Given the description of an element on the screen output the (x, y) to click on. 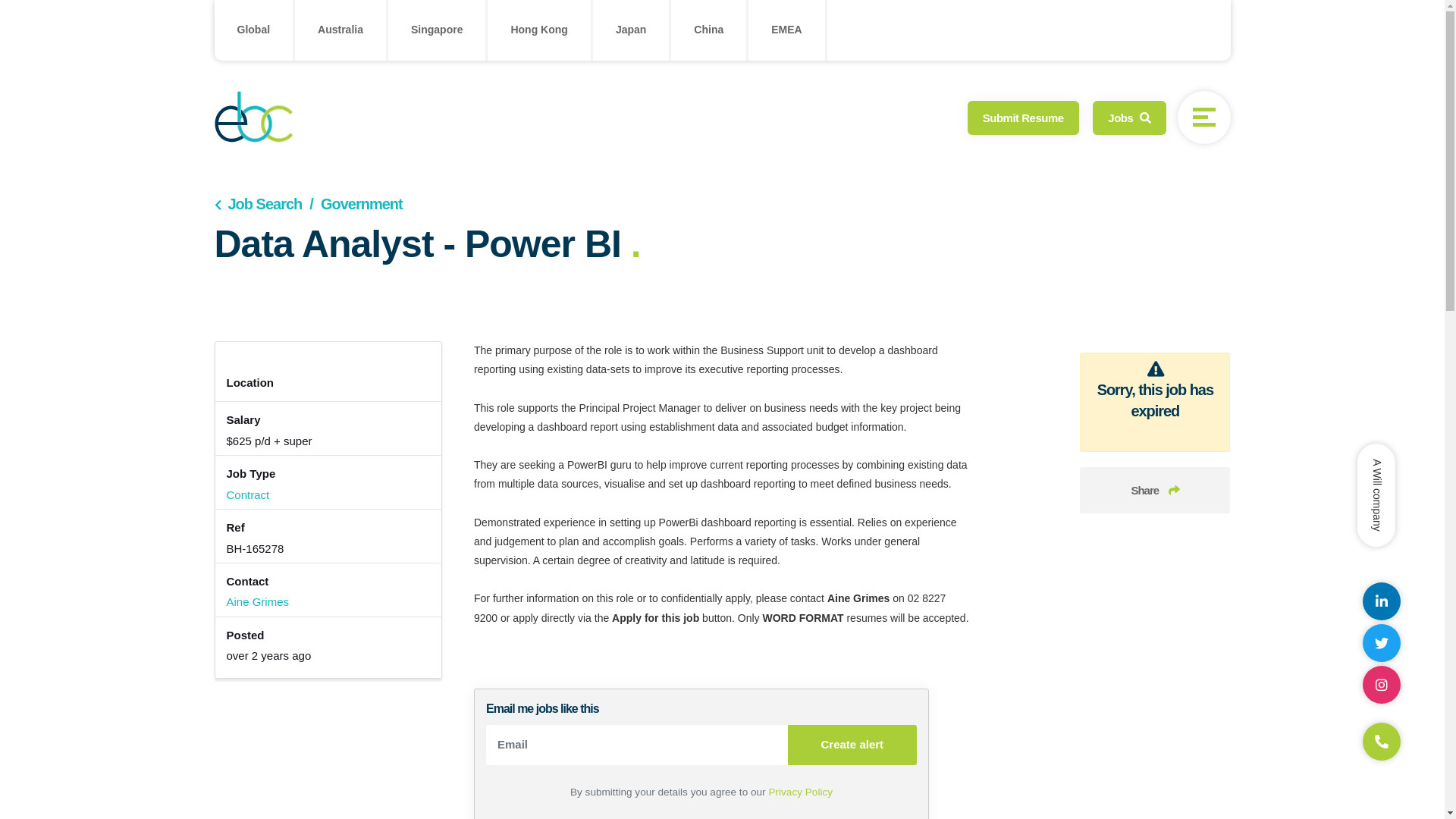
Hong Kong Element type: text (538, 30)
Submit Resume Element type: text (1023, 117)
Government Element type: text (351, 203)
Japan Element type: text (630, 30)
Create alert Element type: text (851, 744)
Privacy Policy Element type: text (800, 791)
China Element type: text (708, 30)
EMEA Element type: text (786, 30)
Singapore Element type: text (436, 30)
Aine Grimes Element type: text (256, 601)
Global Element type: text (252, 30)
Job Search Element type: text (257, 203)
Share Element type: text (1154, 490)
Contract Element type: text (247, 494)
Australia Element type: text (339, 30)
Jobs Element type: text (1128, 117)
